Given the description of an element on the screen output the (x, y) to click on. 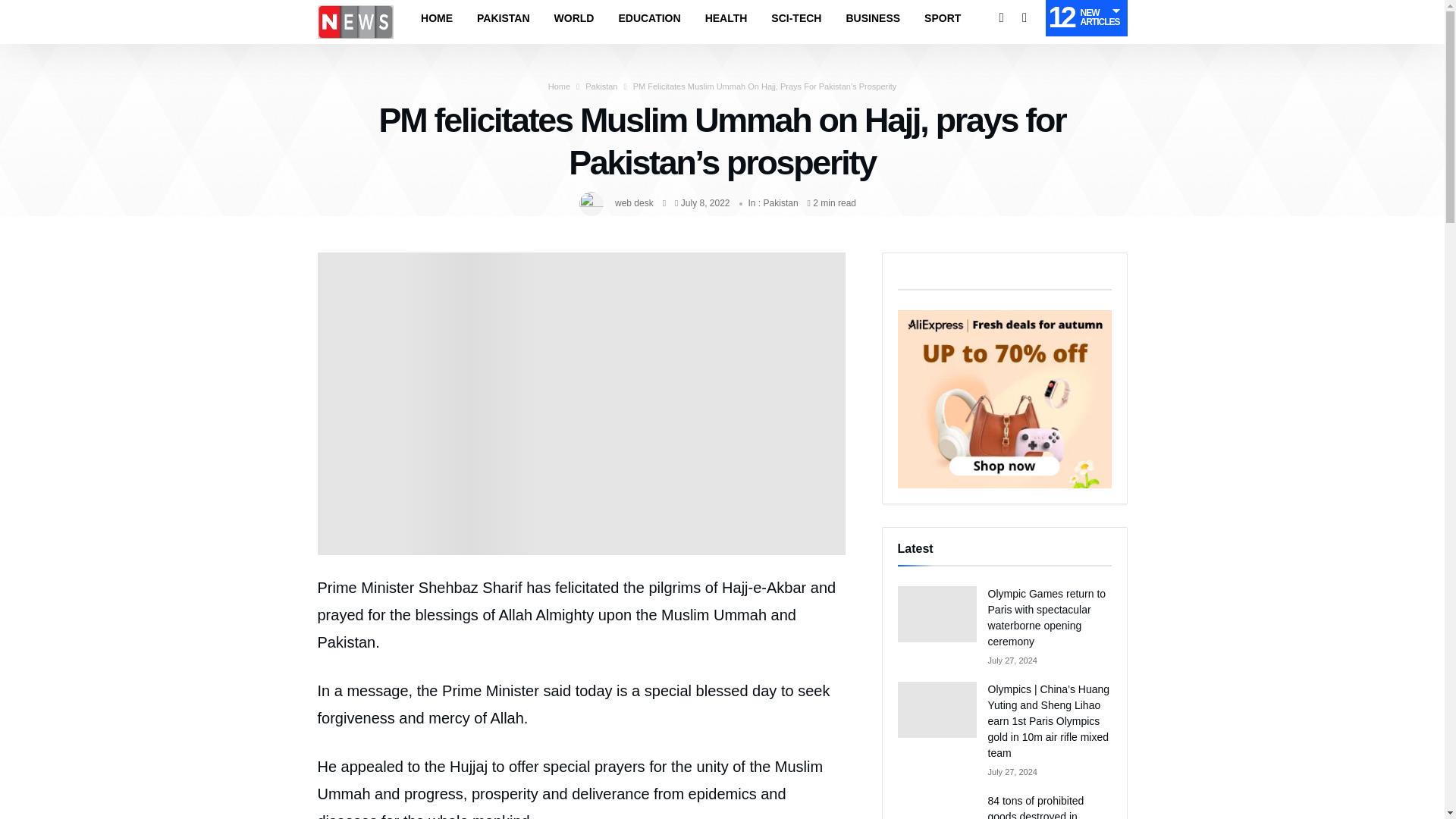
Pakistan (601, 85)
HOME (436, 18)
SCI-TECH (795, 18)
WORLD (574, 18)
Pakistan (779, 203)
SPORT (942, 18)
PAKISTAN (502, 18)
BUSINESS (872, 18)
Home (559, 85)
HEALTH (726, 18)
web desk (633, 203)
EDUCATION (649, 18)
web desk (633, 203)
NEWS.net.pk (355, 5)
